Given the description of an element on the screen output the (x, y) to click on. 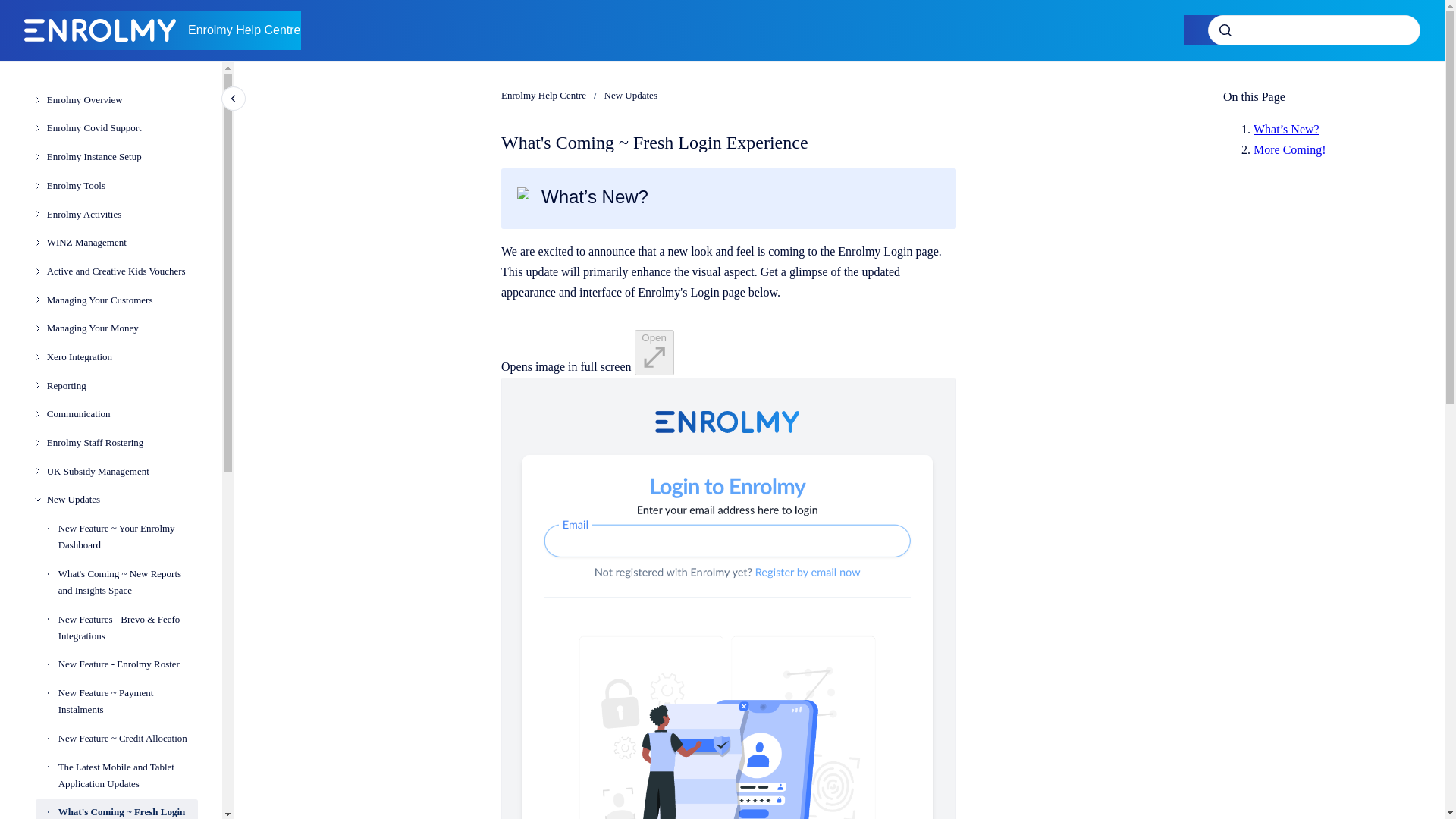
Enrolmy Activities (122, 214)
Managing Your Customers (122, 299)
Xero Integration (122, 357)
Communication (122, 414)
Enrolmy Staff Rostering (122, 442)
New Feature - Enrolmy Roster (128, 664)
Reporting (122, 385)
Enrolmy Help Centre (244, 29)
Enrolmy Tools (122, 185)
UK Subsidy Management (122, 471)
